Given the description of an element on the screen output the (x, y) to click on. 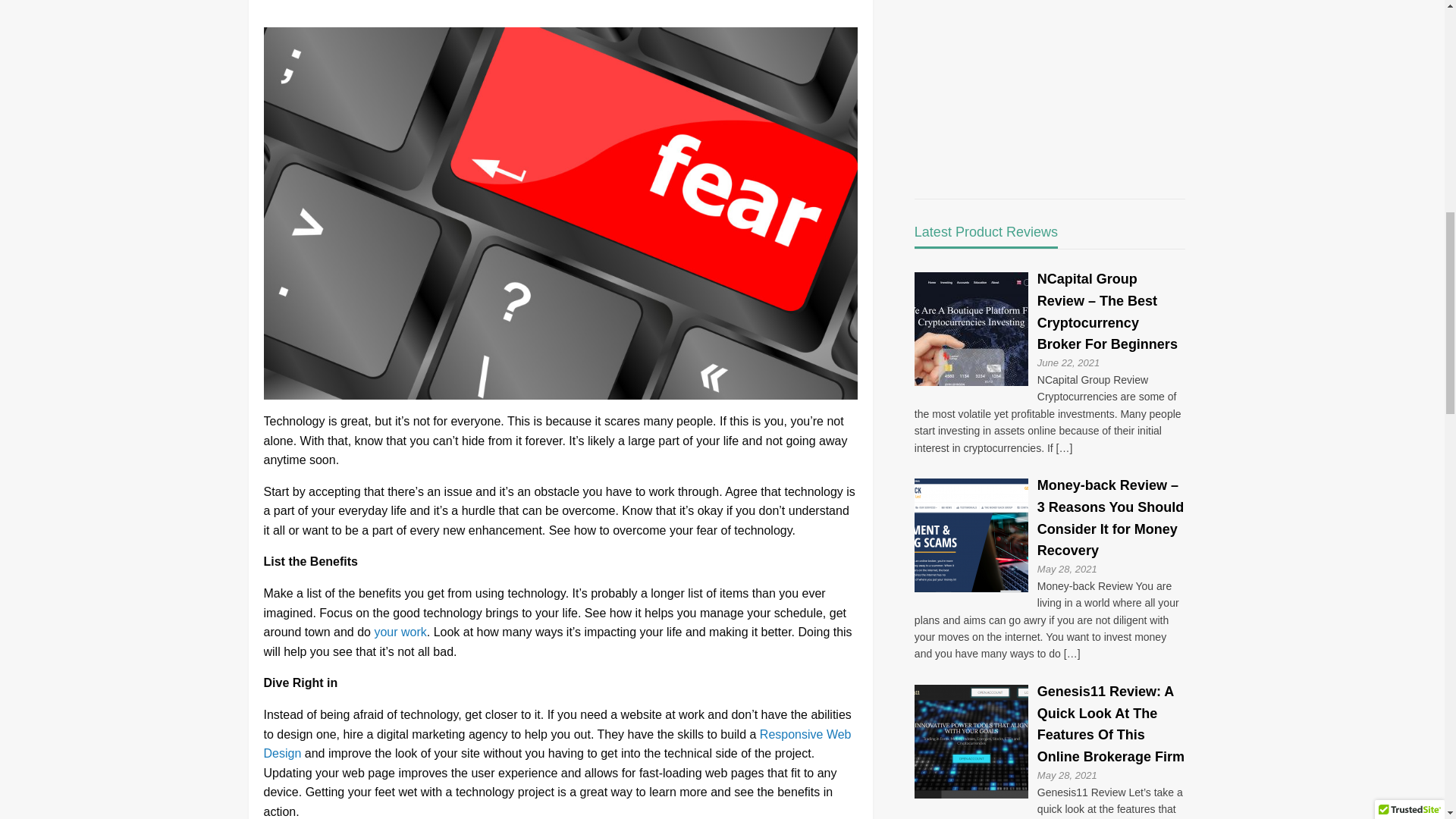
Advertisement (1041, 81)
